Given the description of an element on the screen output the (x, y) to click on. 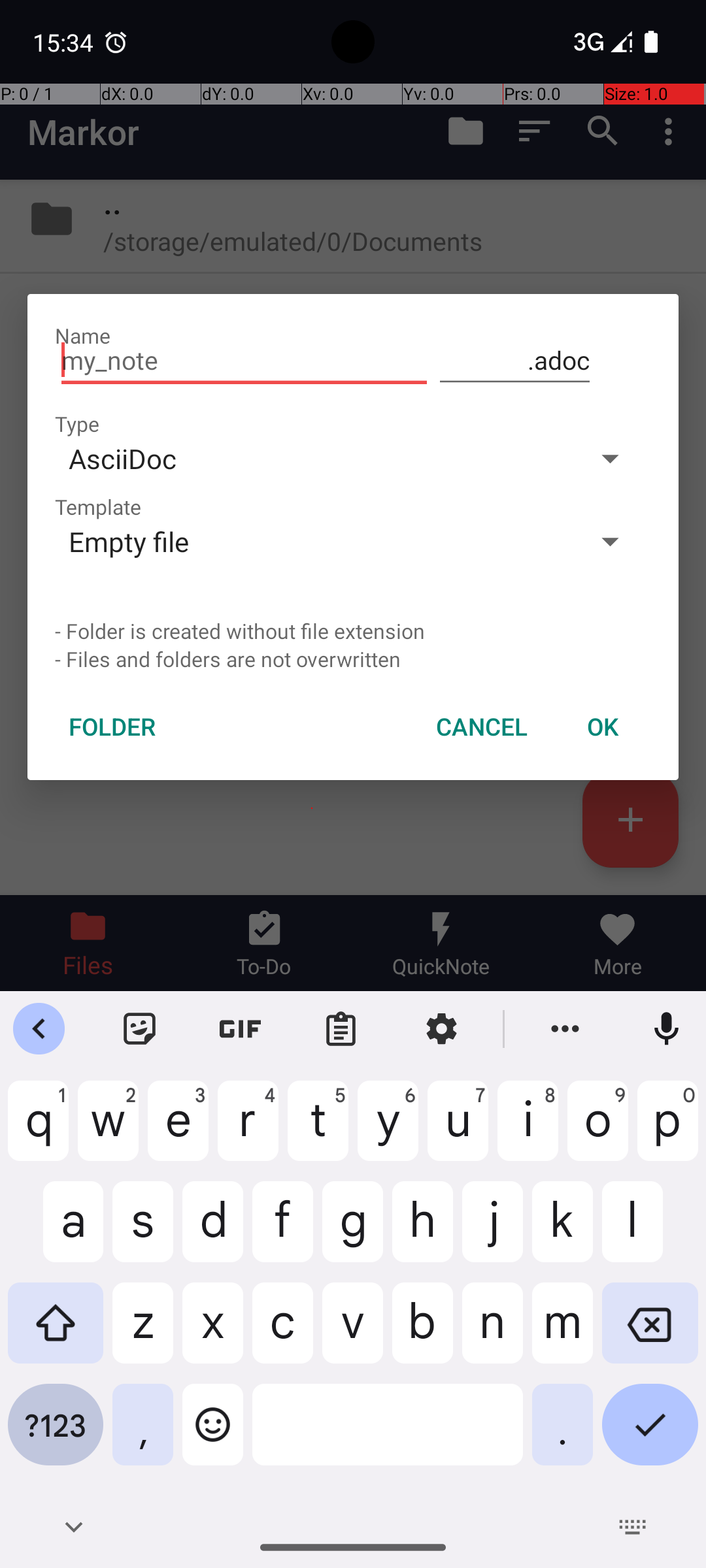
.adoc Element type: android.widget.EditText (514, 360)
